Given the description of an element on the screen output the (x, y) to click on. 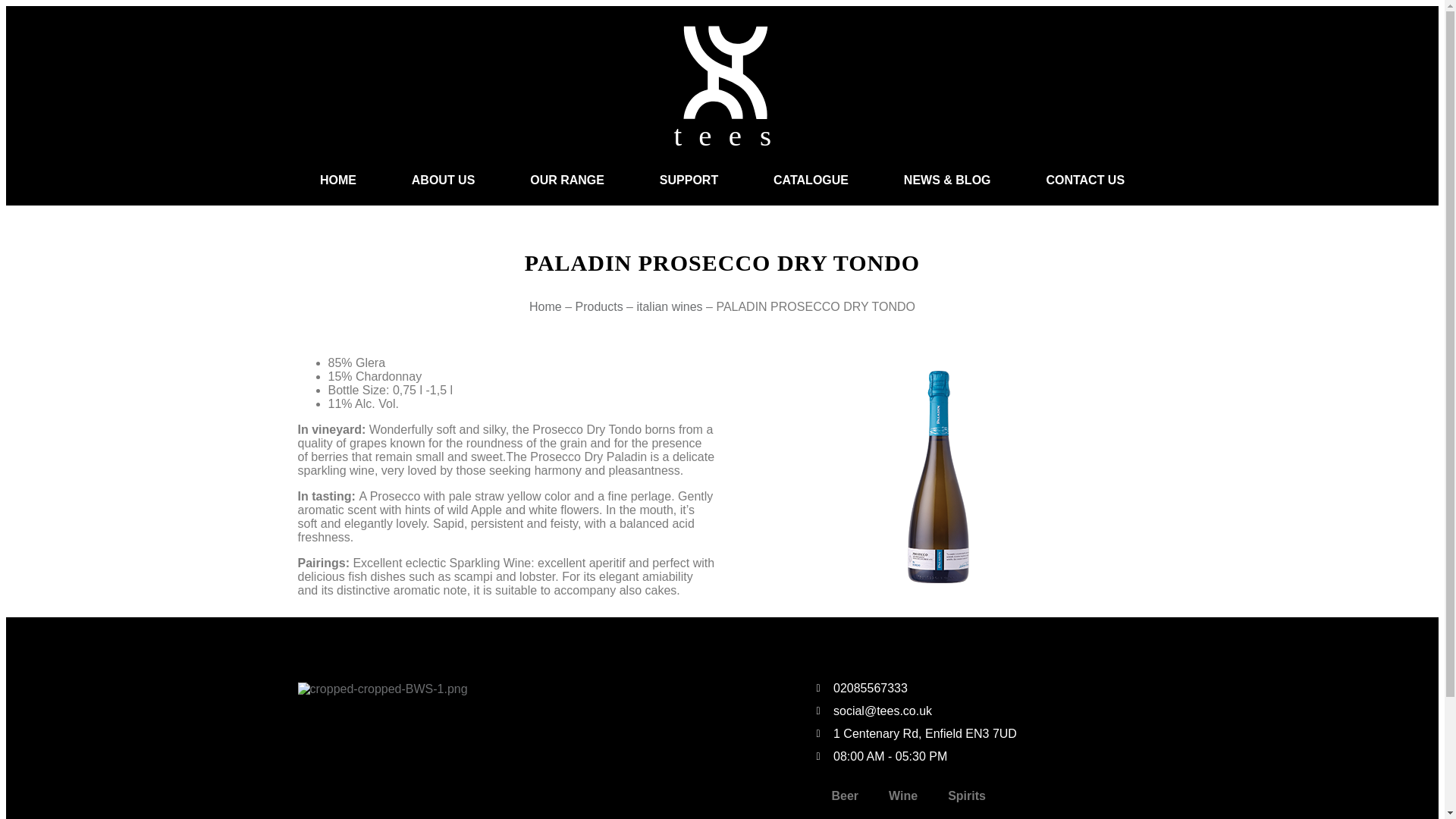
02085567333 (981, 688)
ABOUT US (442, 180)
italian wines (668, 306)
1 Centenary Rd, Enfield EN3 7UD (981, 734)
SUPPORT (688, 180)
OUR RANGE (567, 180)
Beer (844, 796)
HOME (337, 180)
cropped-cropped-BWS-1.png (382, 689)
CONTACT US (1085, 180)
